Given the description of an element on the screen output the (x, y) to click on. 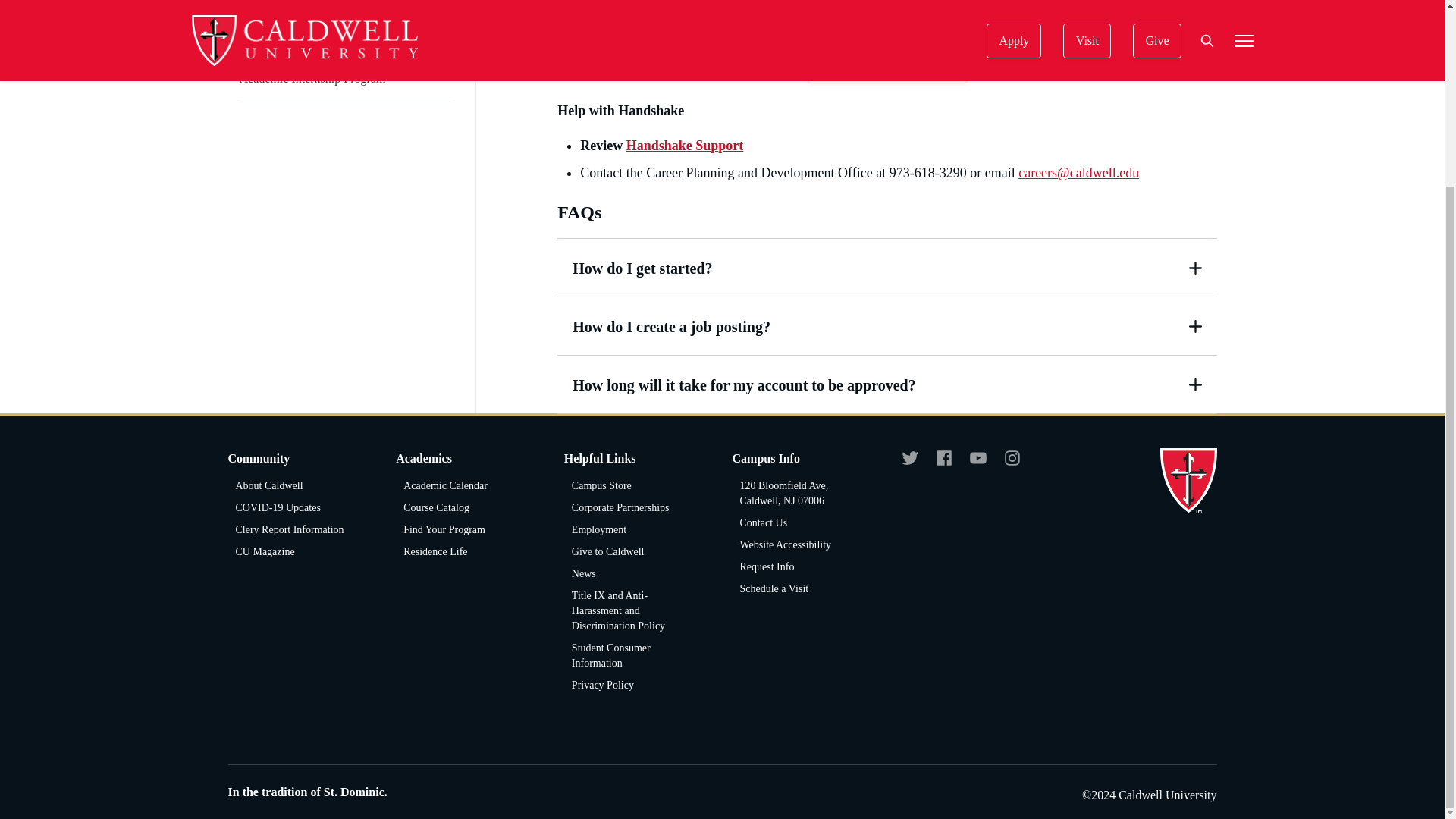
footer logo image (1188, 479)
submit button (1025, 275)
instagram.com (1012, 464)
facebook.com (943, 464)
youtube.com (978, 464)
twitter.com (909, 464)
